Given the description of an element on the screen output the (x, y) to click on. 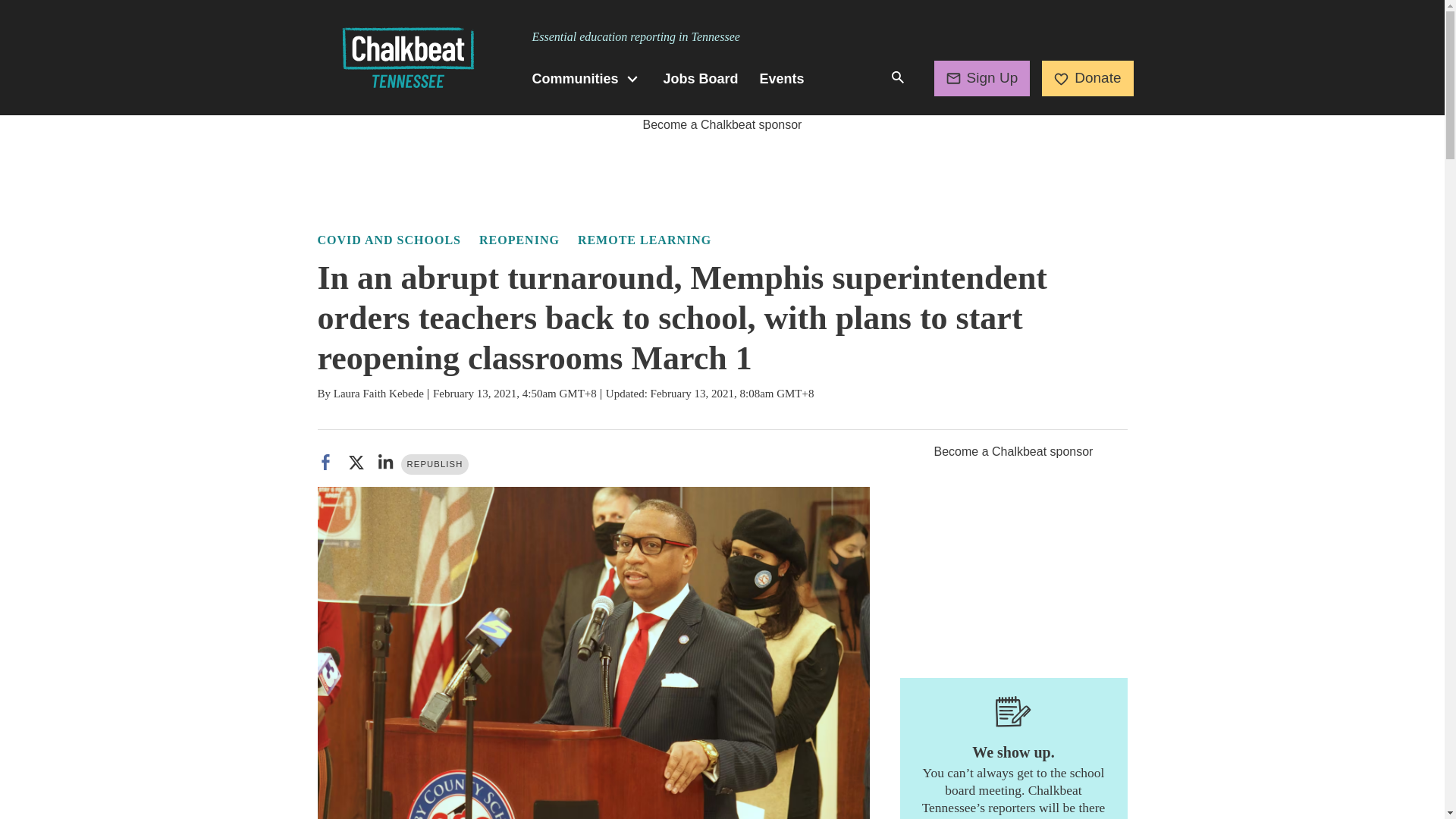
Become a Chalkbeat sponsor (722, 124)
Sign Up (982, 77)
3rd party ad content (721, 169)
Jobs Board (700, 79)
Events (782, 79)
Donate (1087, 77)
REMOTE LEARNING (644, 239)
COVID AND SCHOOLS (388, 239)
REPUBLISH (434, 464)
REOPENING (519, 239)
Laura Faith Kebede (378, 393)
3rd party ad content (1012, 555)
